Given the description of an element on the screen output the (x, y) to click on. 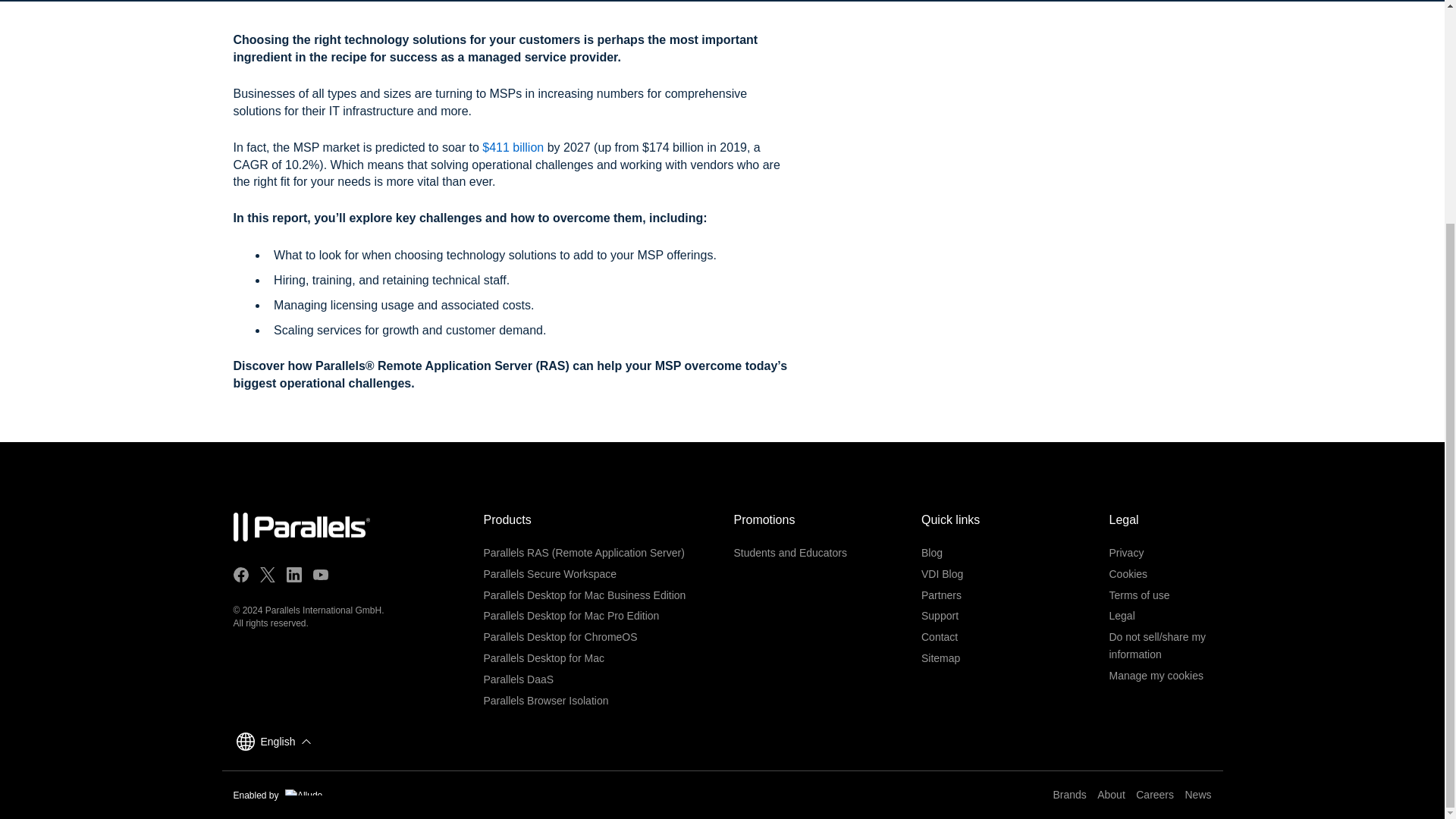
Parallels (300, 527)
Parallels YouTube (320, 574)
English (283, 741)
Parallels Facebook (240, 574)
Parallels Twitter (267, 574)
Alludo (303, 792)
Parallels Linkedin (293, 574)
